Given the description of an element on the screen output the (x, y) to click on. 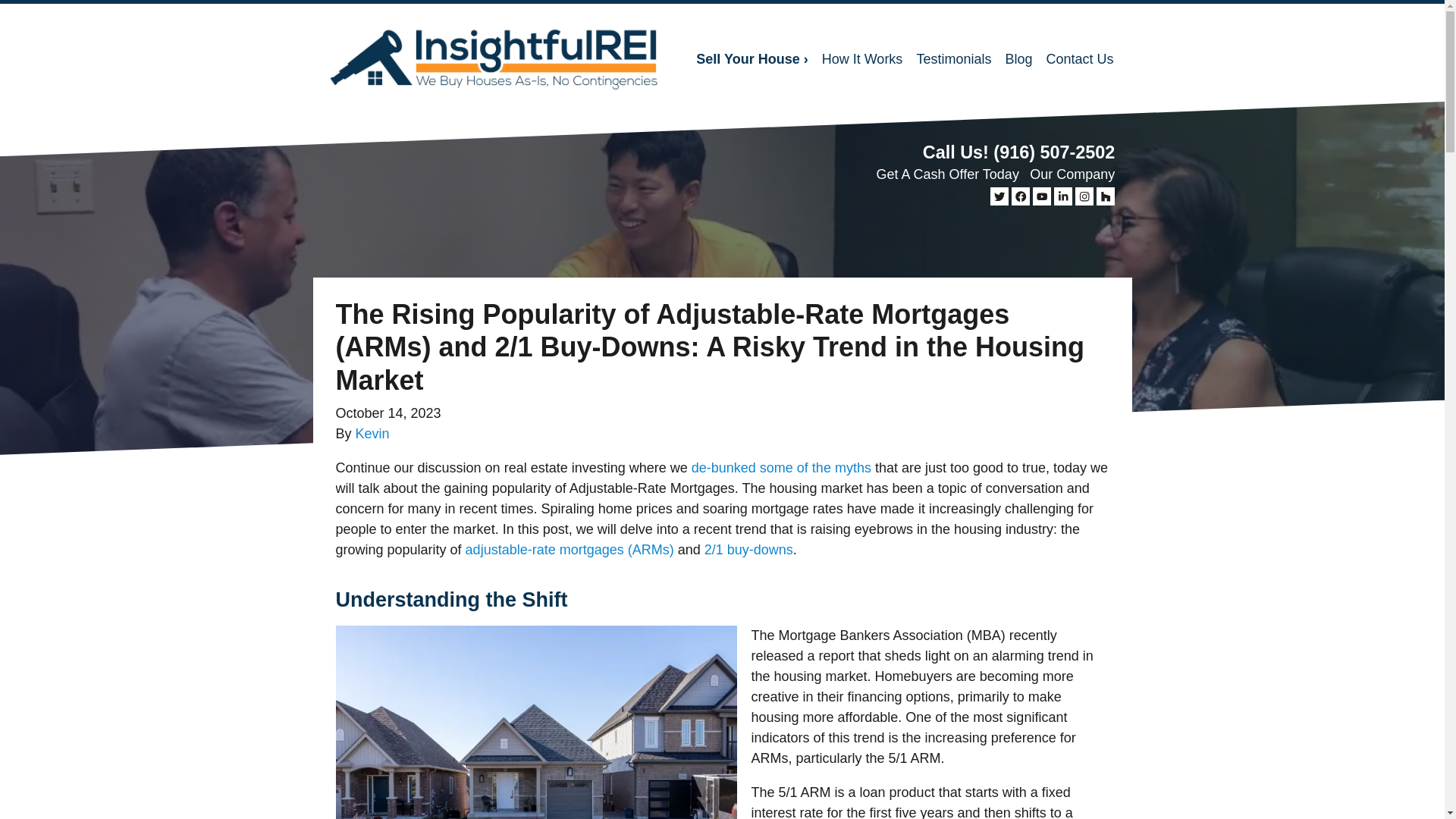
Facebook (1020, 196)
Testimonials (952, 59)
LinkedIn (1062, 196)
Contact Us (1079, 59)
Contact Us (1079, 59)
Testimonials (952, 59)
Get A Cash Offer Today (946, 174)
de-bunked some of the myths (780, 467)
Our Company (1072, 174)
How It Works (862, 59)
